Given the description of an element on the screen output the (x, y) to click on. 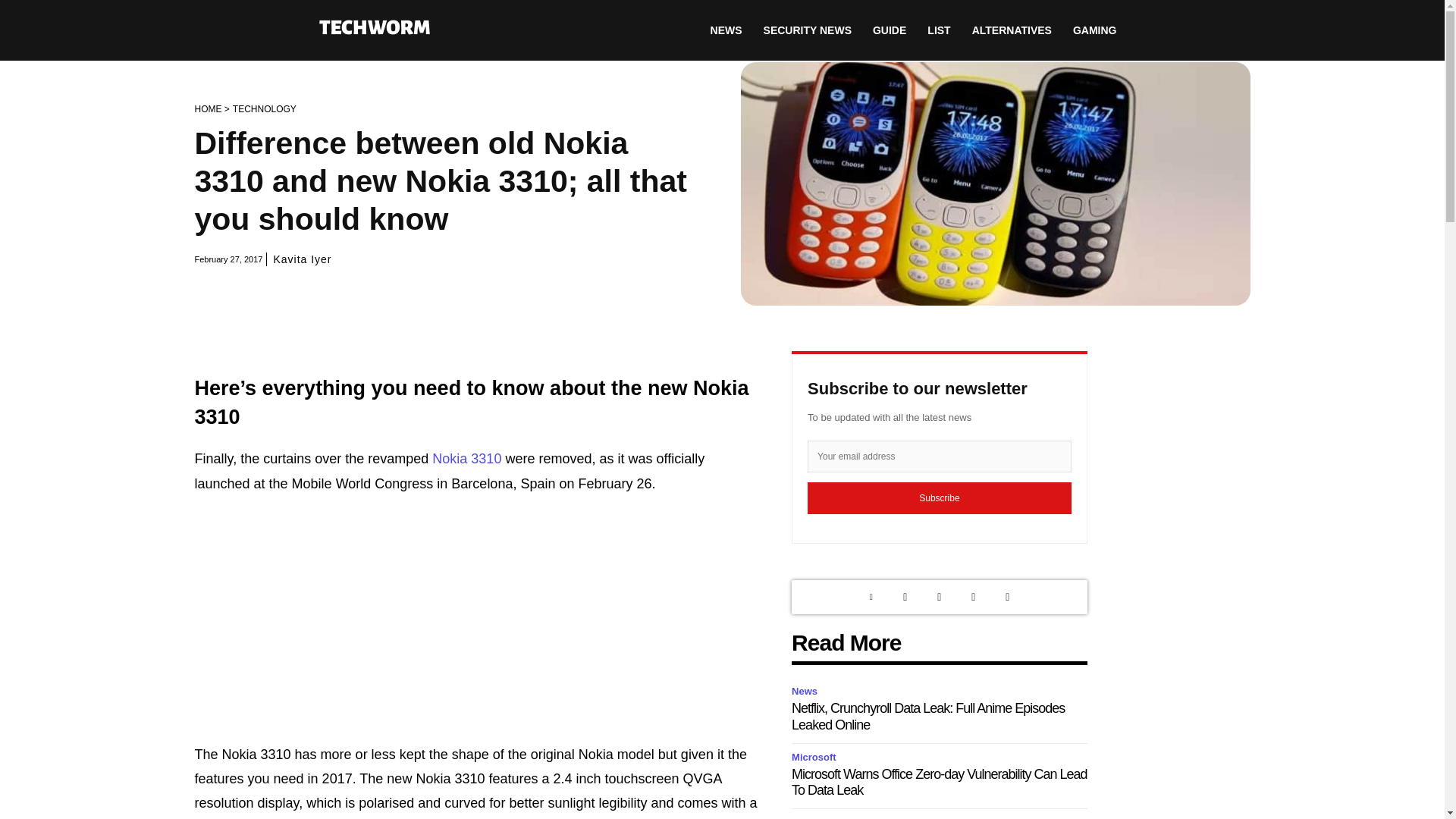
Linkedin (870, 596)
TECHNOLOGY (264, 109)
Instagram (939, 596)
News (807, 692)
View all posts in Technology (264, 109)
ALTERNATIVES (1011, 30)
Kavita Iyer (302, 259)
Facebook (973, 596)
GAMING (1094, 30)
